Given the description of an element on the screen output the (x, y) to click on. 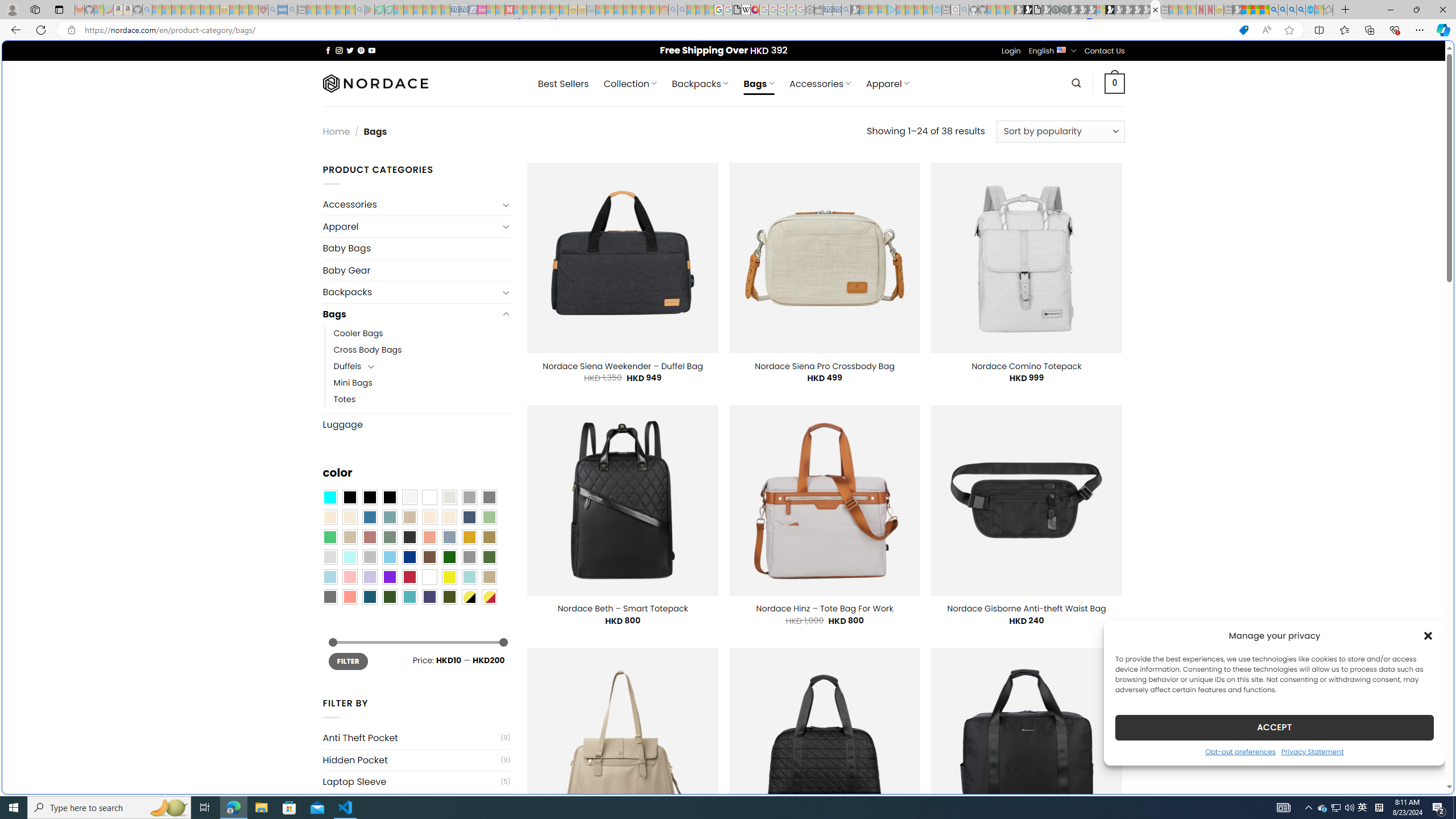
English (1061, 49)
Peach Pink (349, 596)
Aqua (468, 577)
Blue Sage (389, 517)
Bags (410, 314)
Cooler Bags (422, 333)
